Given the description of an element on the screen output the (x, y) to click on. 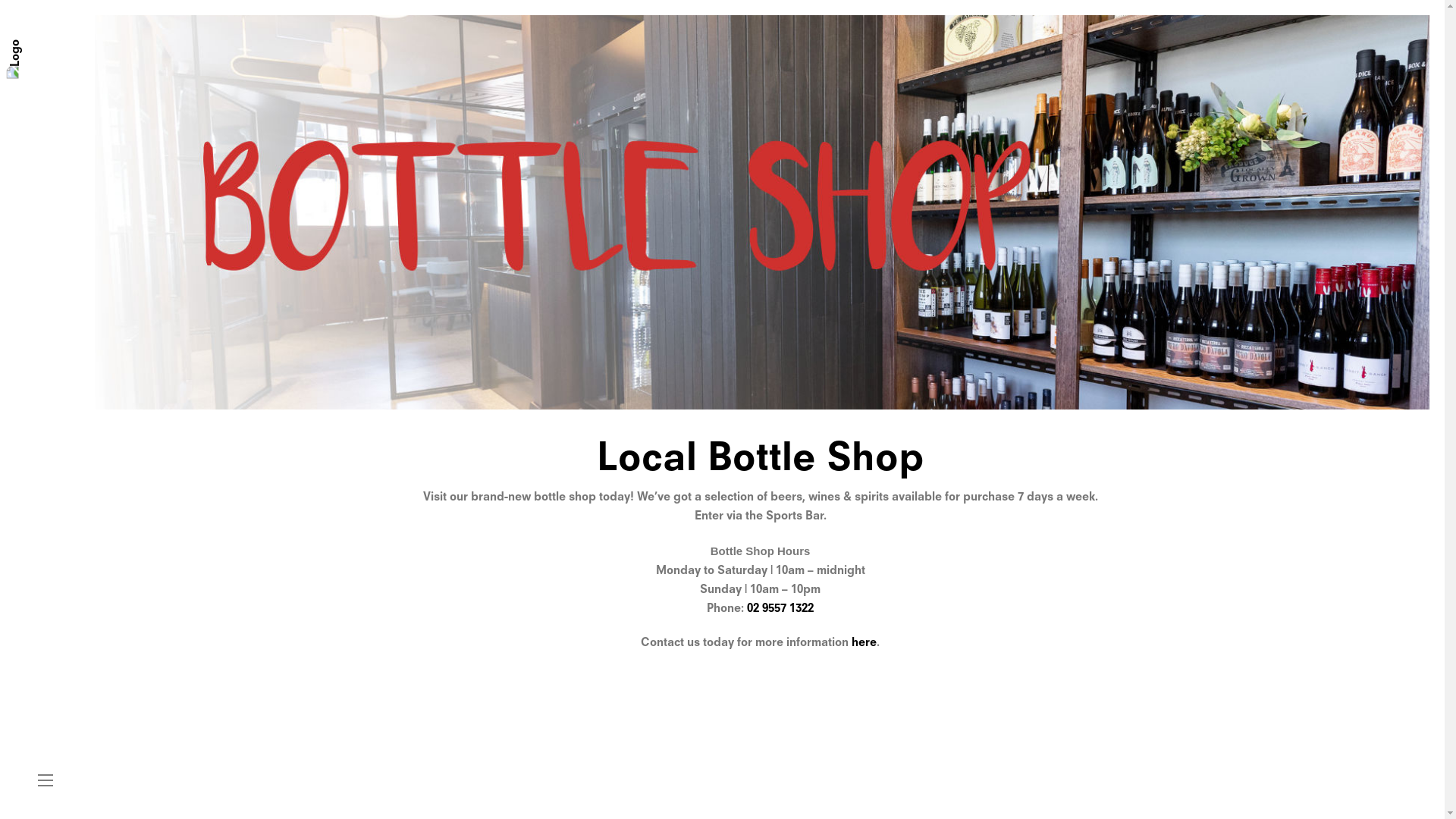
toggle menu Element type: text (45, 780)
02 9557 1322 Element type: text (779, 609)
here Element type: text (863, 643)
